Given the description of an element on the screen output the (x, y) to click on. 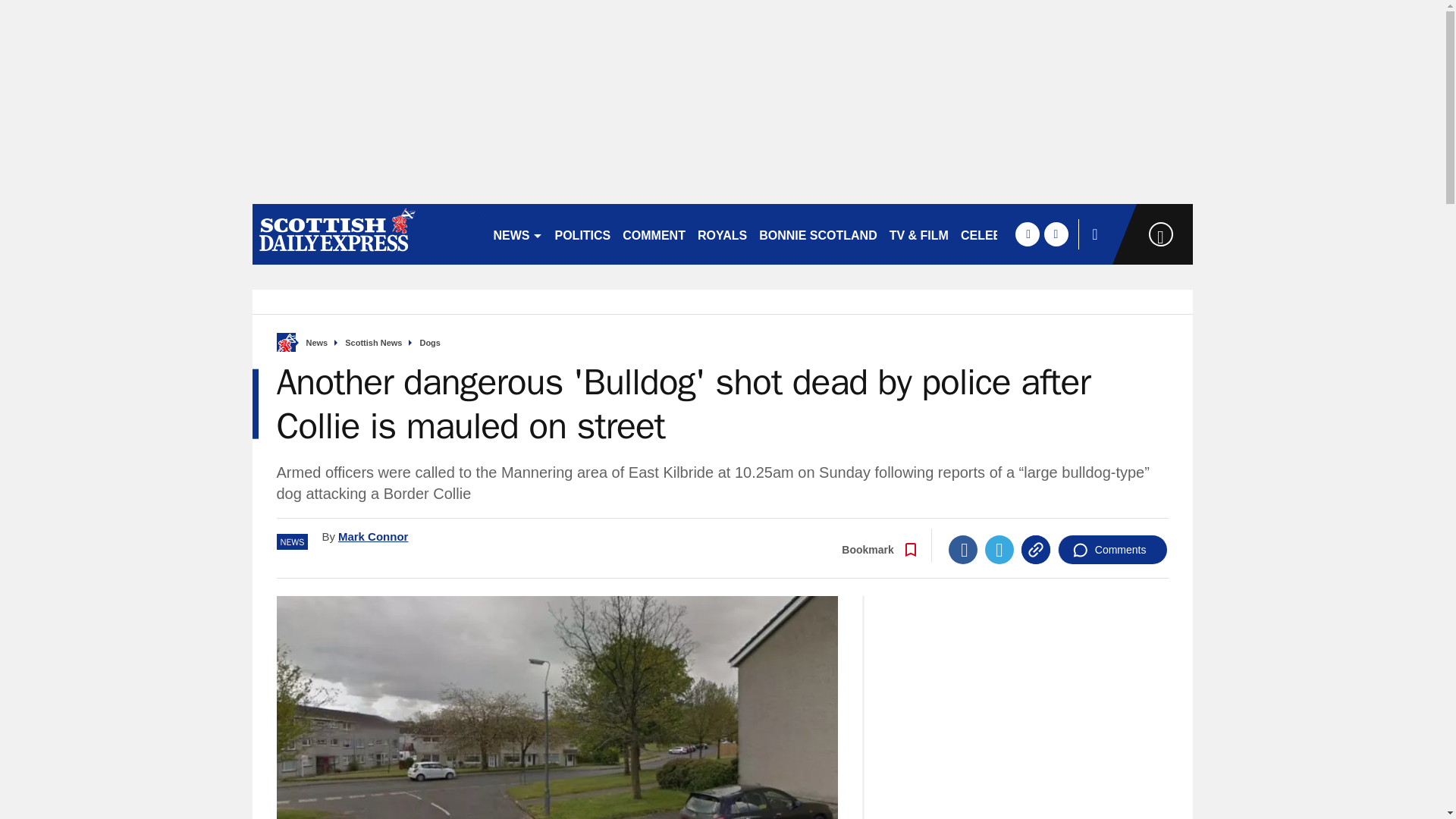
Comments (1112, 549)
facebook (1026, 233)
ROYALS (721, 233)
twitter (1055, 233)
scottishdailyexpress (365, 233)
COMMENT (653, 233)
NEWS (517, 233)
CELEBS (985, 233)
BONNIE SCOTLAND (817, 233)
Twitter (999, 549)
POLITICS (582, 233)
Facebook (962, 549)
